Given the description of an element on the screen output the (x, y) to click on. 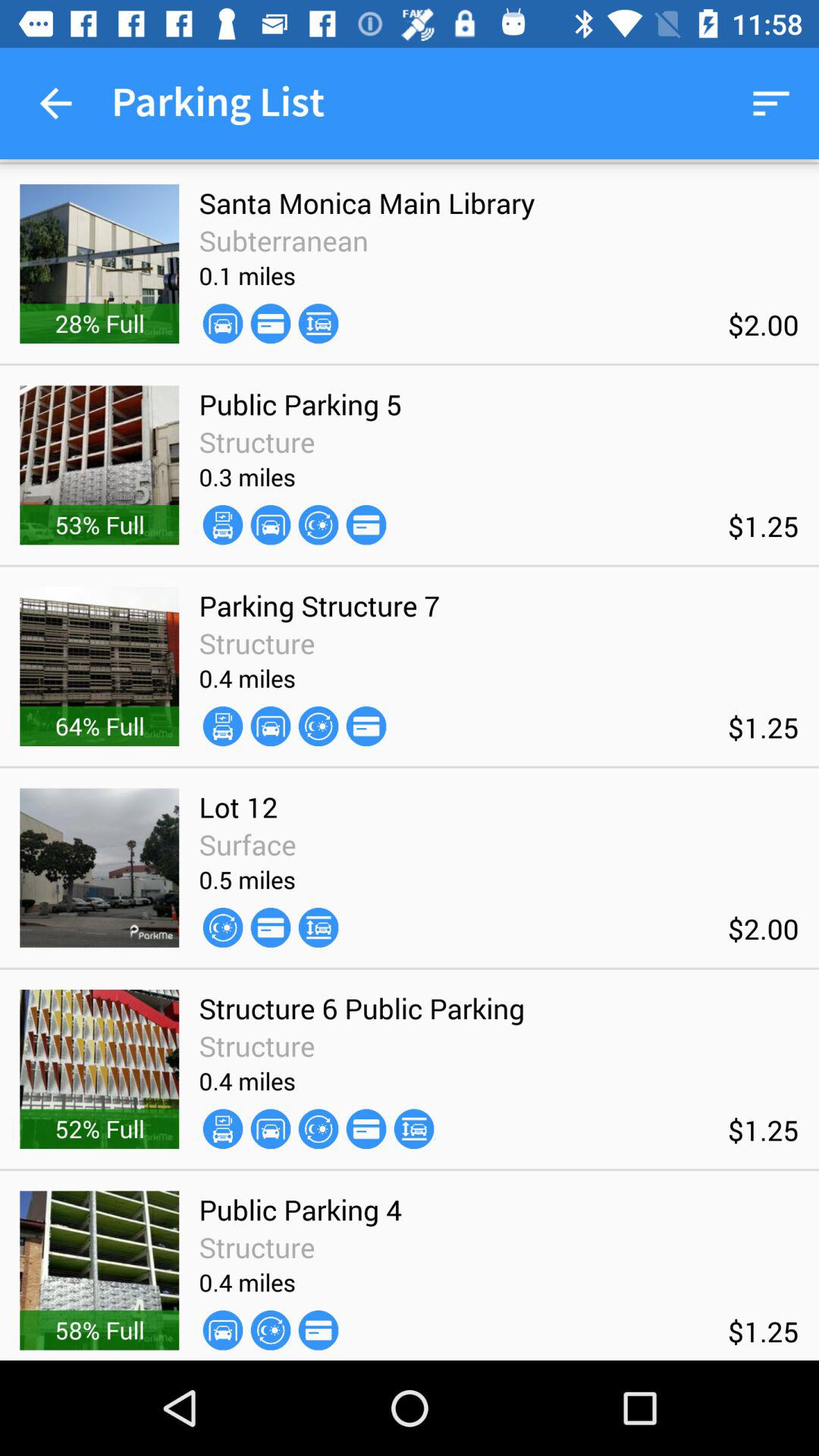
tap the icon to the right of 0.5 miles (318, 927)
